Given the description of an element on the screen output the (x, y) to click on. 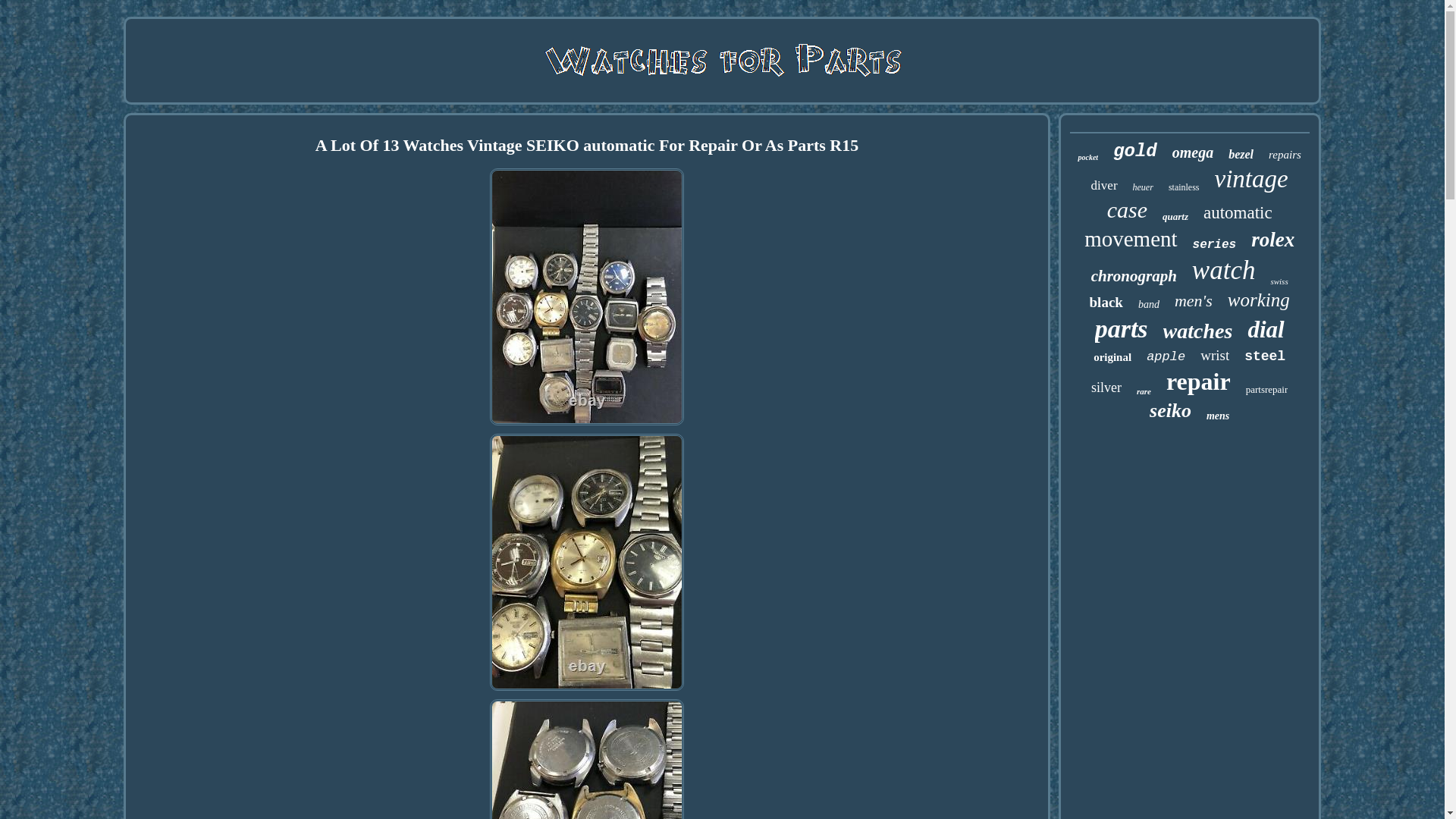
wrist (1213, 355)
repairs (1284, 154)
series (1214, 244)
omega (1192, 152)
diver (1104, 185)
watch (1223, 270)
automatic (1238, 212)
heuer (1142, 187)
men's (1193, 301)
parts (1121, 328)
original (1112, 357)
vintage (1251, 179)
rolex (1272, 239)
swiss (1278, 280)
apple (1166, 356)
